Given the description of an element on the screen output the (x, y) to click on. 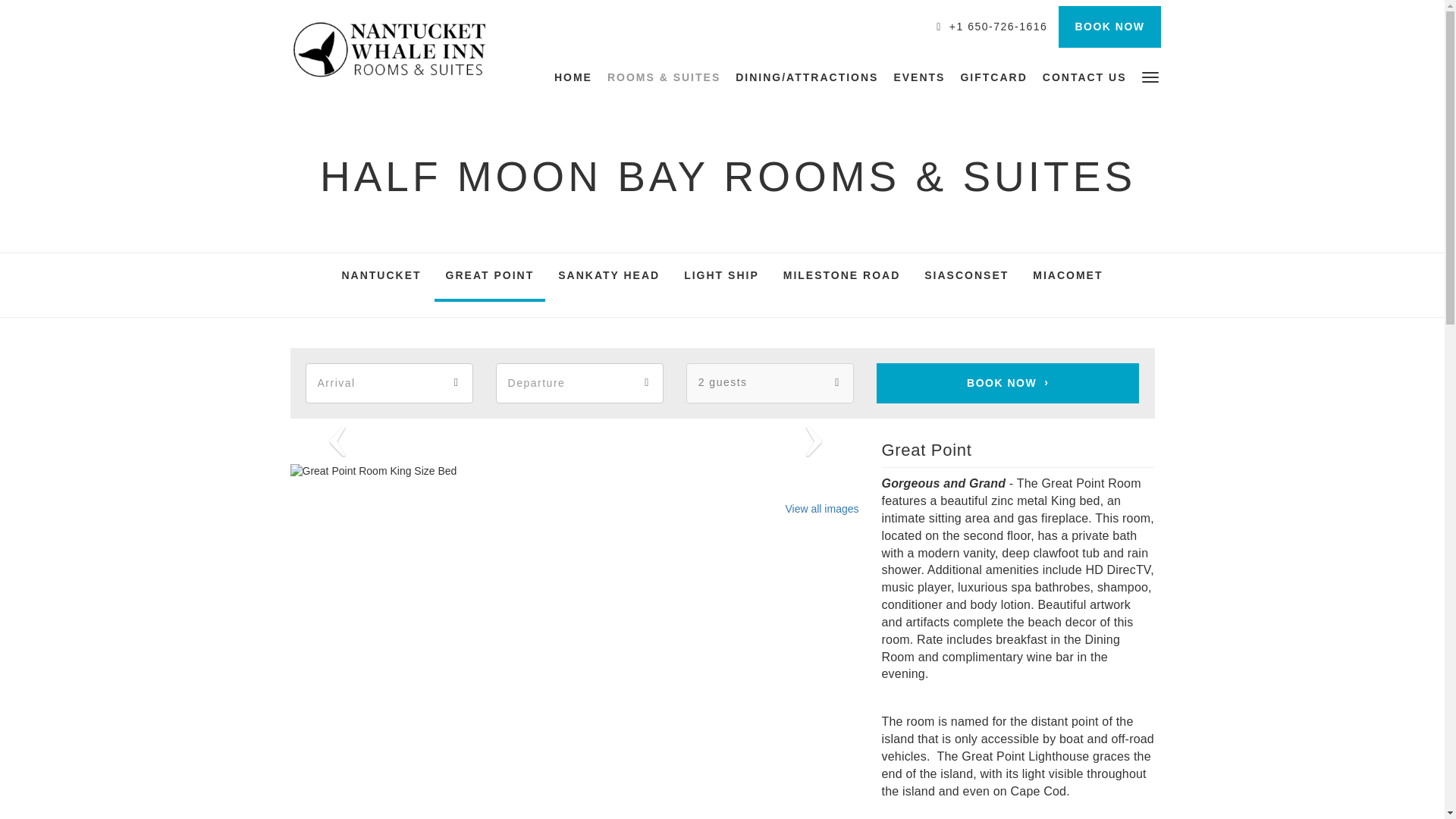
LIGHT SHIP (721, 277)
View all images (821, 508)
CONTACT US (1084, 77)
GIFTCARD (992, 77)
NANTUCKET (381, 277)
SIASCONSET (966, 277)
EVENTS (918, 77)
HOME (576, 77)
BOOK NOW (1109, 26)
MIACOMET (1067, 277)
